Given the description of an element on the screen output the (x, y) to click on. 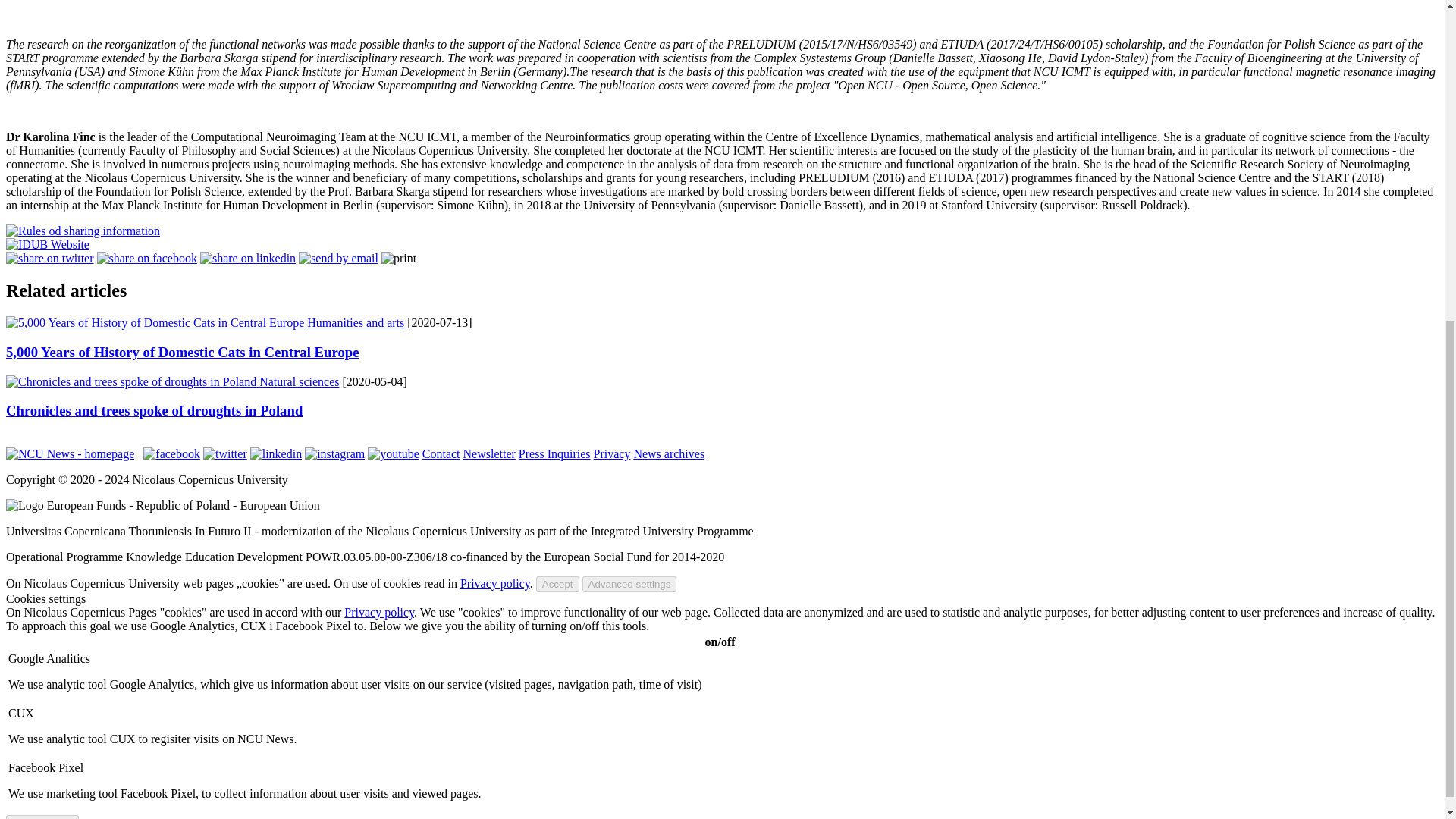
European Funds - Republic of Poland - European Union (162, 505)
